Given the description of an element on the screen output the (x, y) to click on. 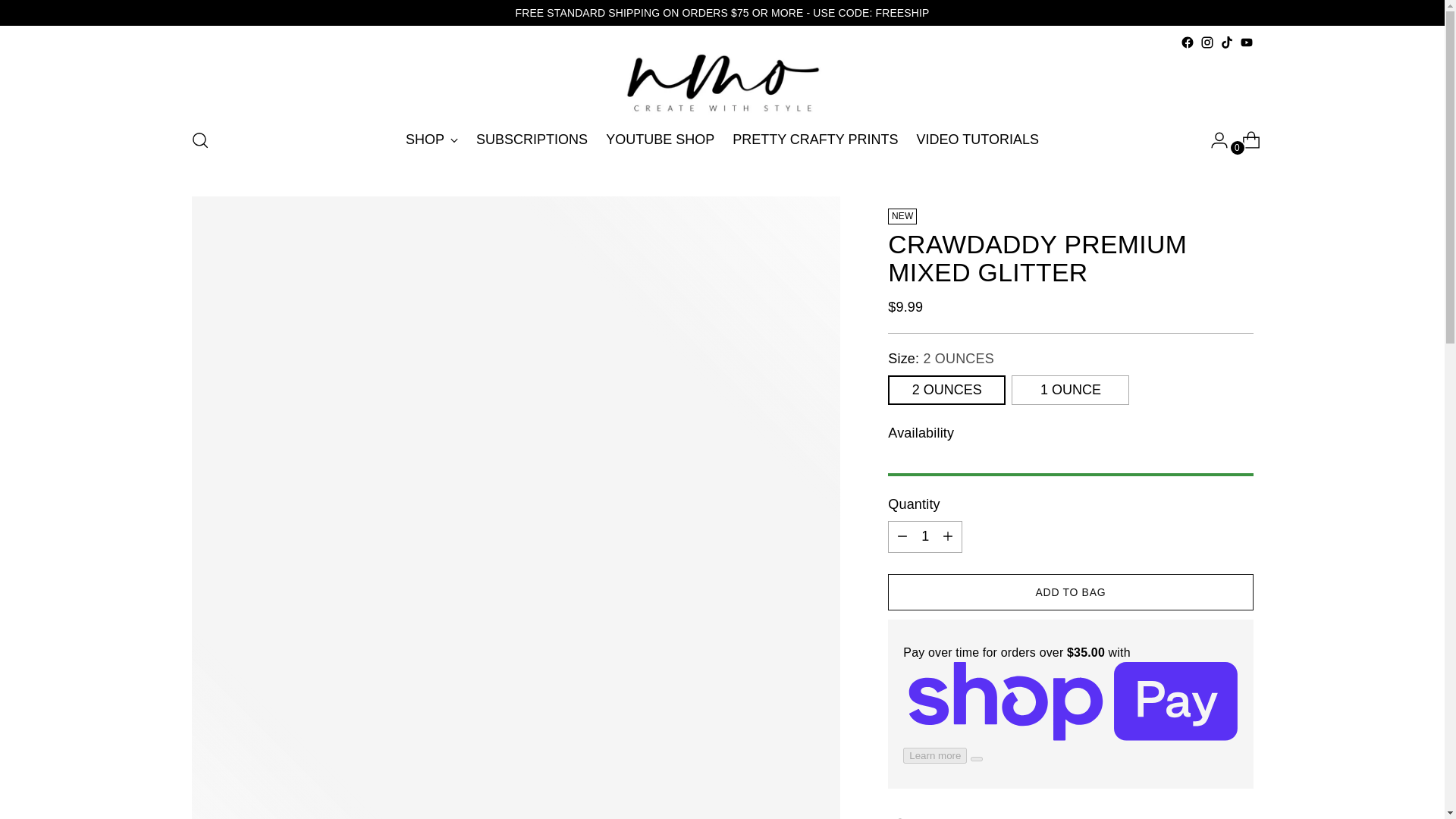
NICOLE MARETT ORIGINAL on YouTube (1245, 42)
VIDEO TUTORIALS (978, 140)
1 (925, 536)
SUBSCRIPTIONS (532, 140)
0 (1245, 140)
NICOLE MARETT ORIGINAL on Facebook (1186, 42)
NICOLE MARETT ORIGINAL on Instagram (1205, 42)
NICOLE MARETT ORIGINAL on Tiktok (1226, 42)
SHOP (432, 140)
PRETTY CRAFTY PRINTS (815, 140)
YOUTUBE SHOP (659, 140)
